Given the description of an element on the screen output the (x, y) to click on. 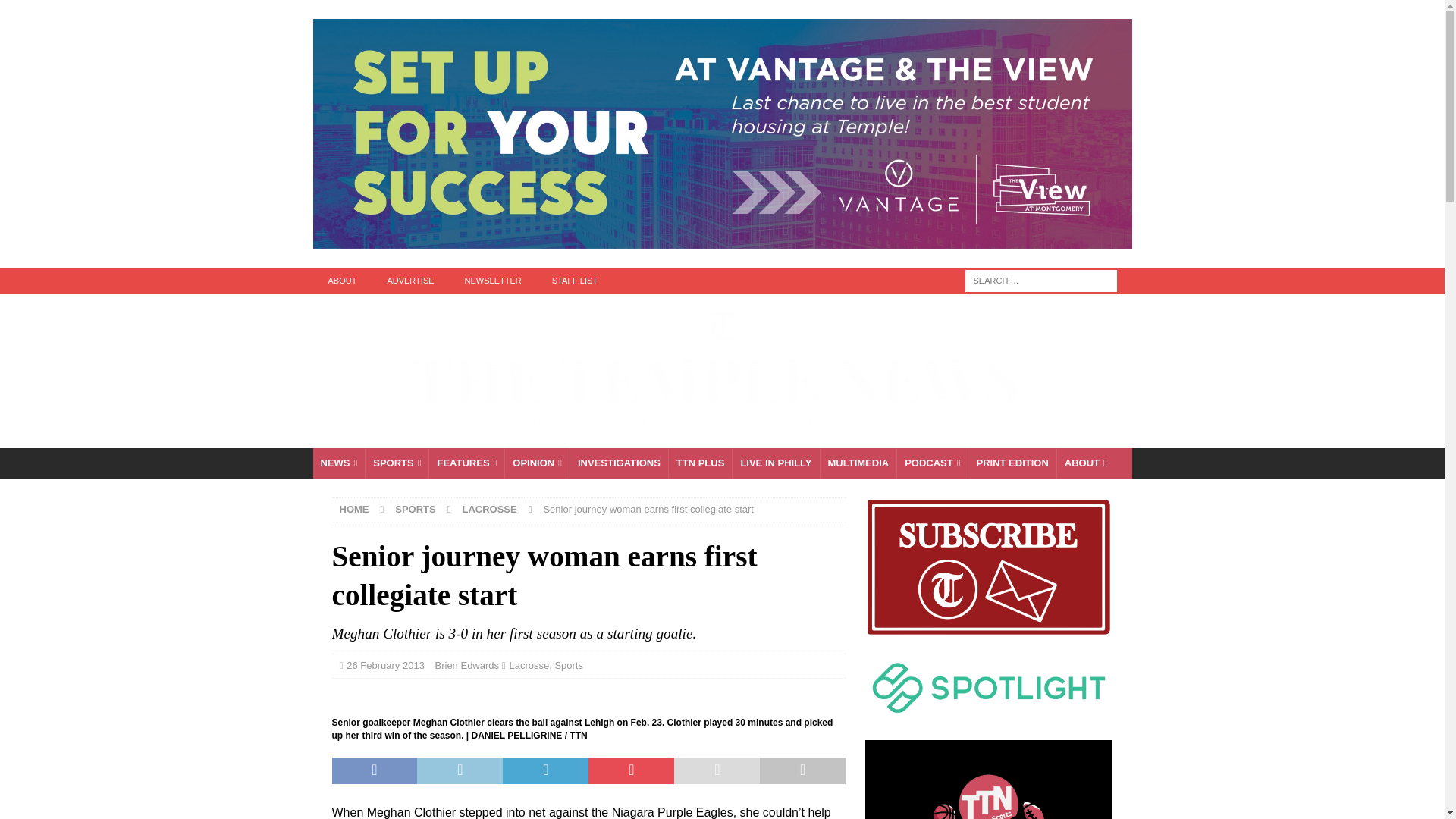
Posts by Brien Edwards (467, 665)
STAFF LIST (574, 280)
Search (56, 11)
NEWSLETTER (493, 280)
ABOUT (342, 280)
Longform (700, 463)
ADVERTISE (409, 280)
